Given the description of an element on the screen output the (x, y) to click on. 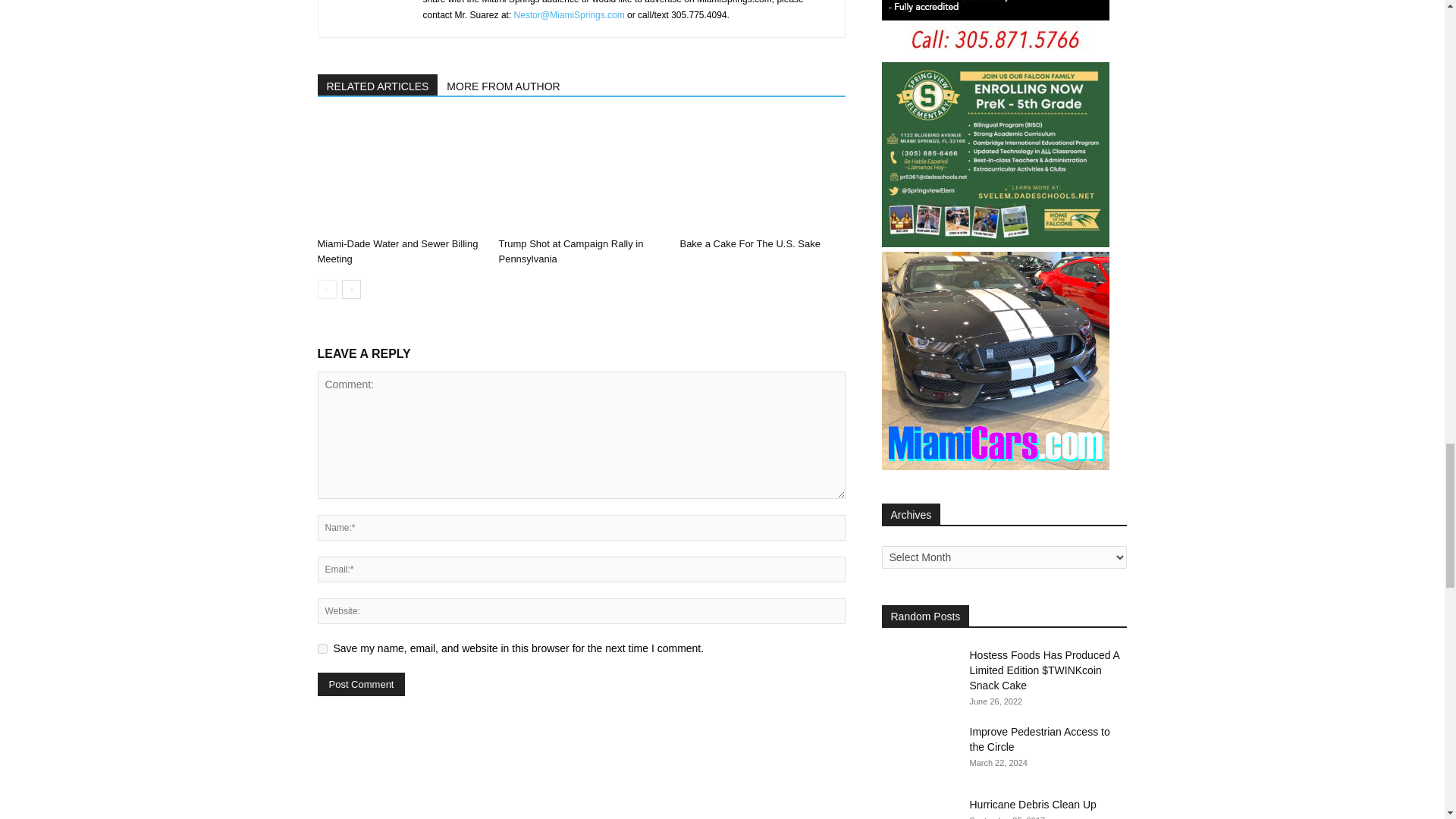
yes (321, 648)
Post Comment (360, 684)
